Given the description of an element on the screen output the (x, y) to click on. 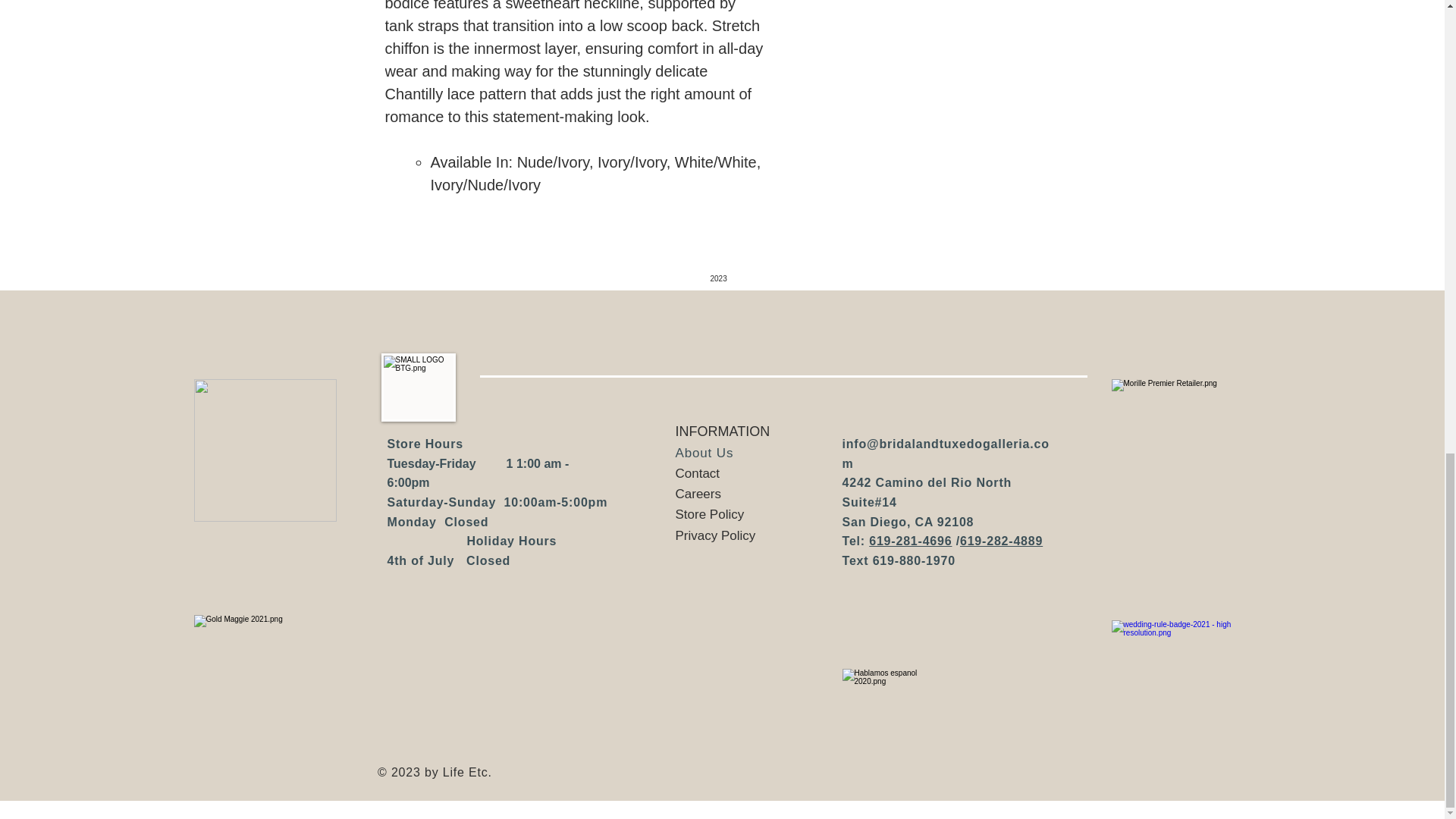
Maggie Gold 23.png (264, 450)
Top Bridal Stores in San Diego (1182, 690)
